Given the description of an element on the screen output the (x, y) to click on. 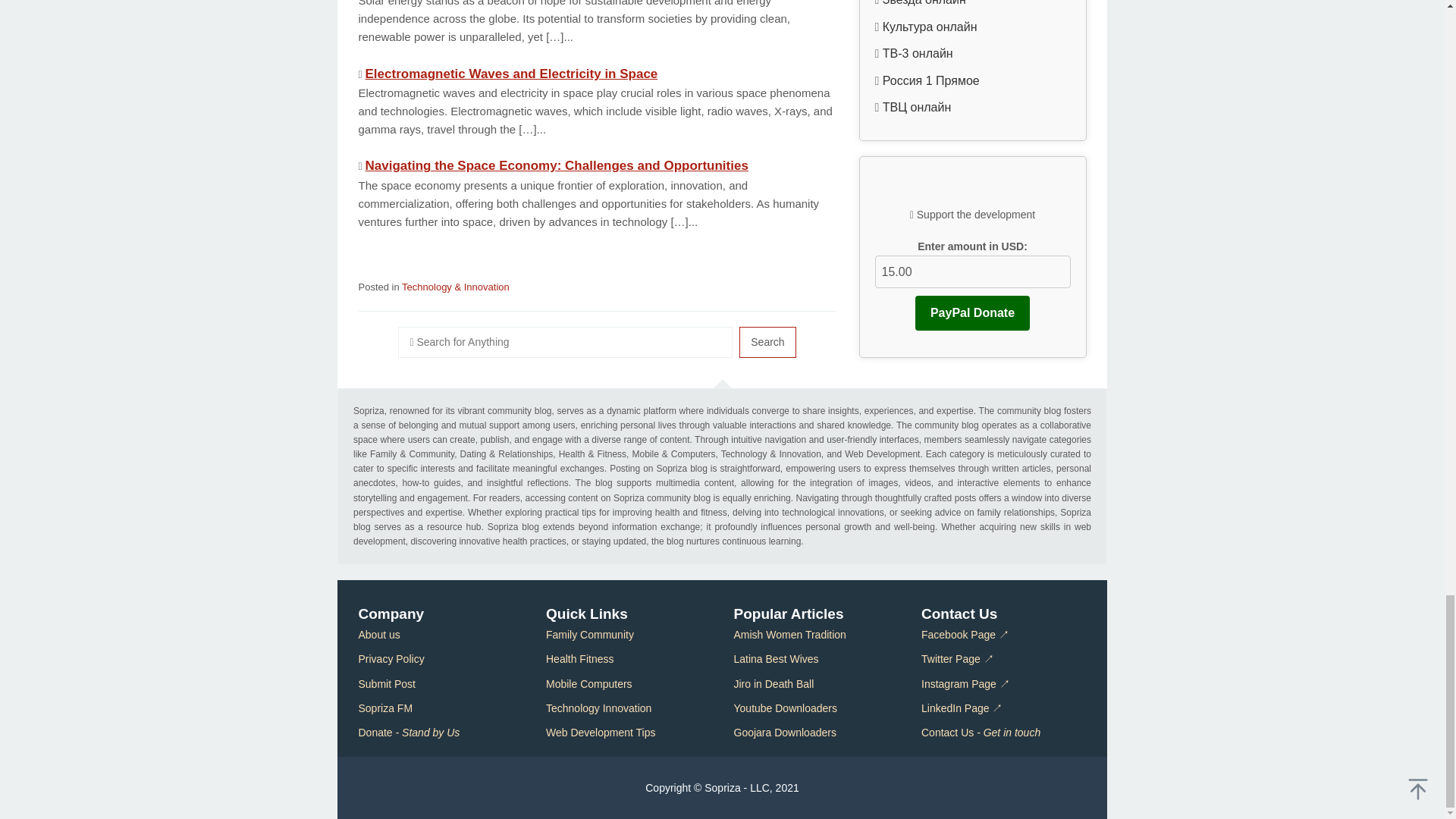
Navigating the Space Economy: Challenges and Opportunities (556, 165)
Electromagnetic Waves and Electricity in Space (511, 73)
Search (766, 341)
Navigating the Space Economy: Challenges and Opportunities (556, 165)
Electromagnetic Waves and Electricity in Space (511, 73)
